Given the description of an element on the screen output the (x, y) to click on. 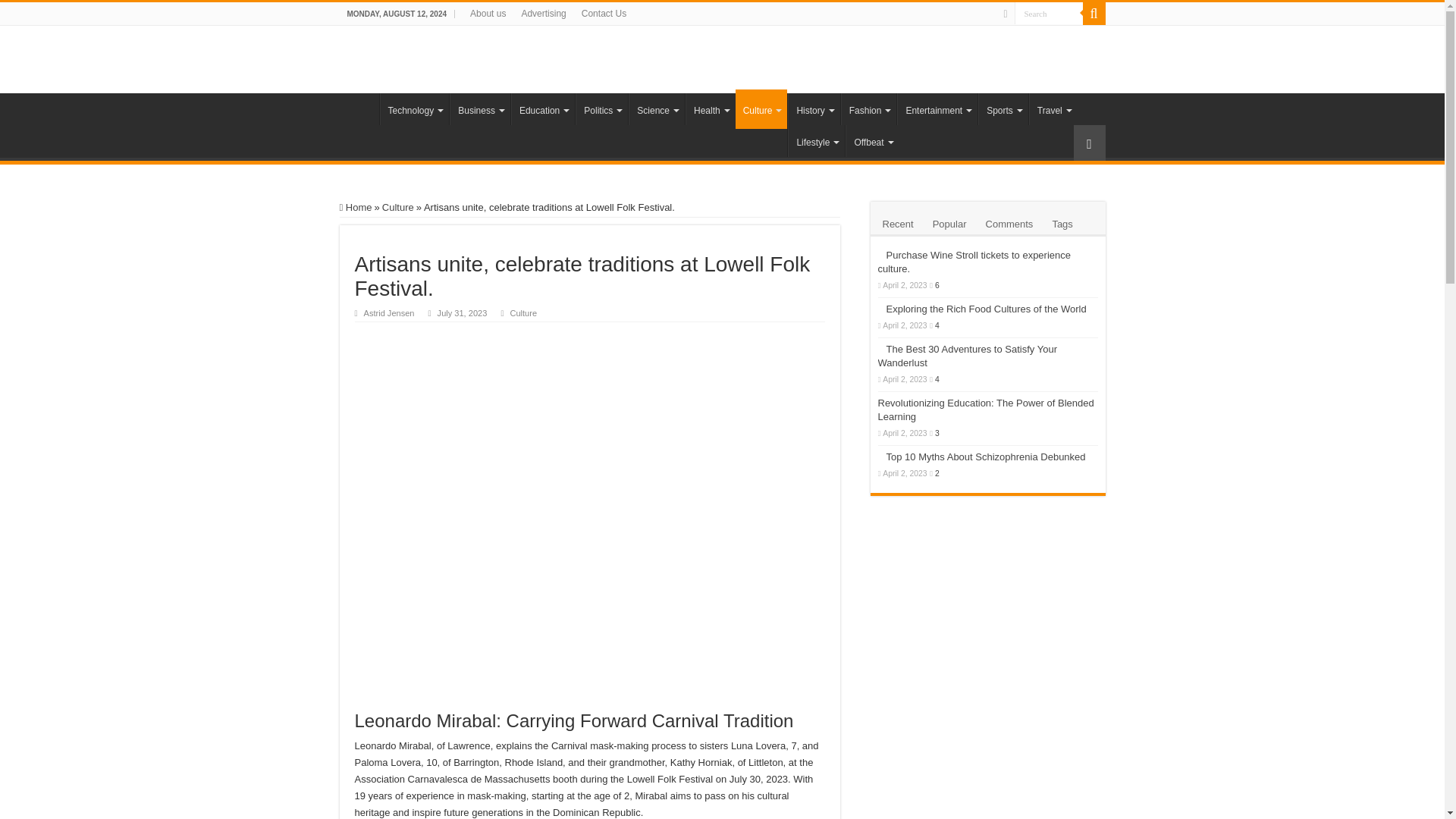
Search (1094, 13)
Search (1048, 13)
Contact Us (603, 13)
About us (488, 13)
Advertising (543, 13)
Home (358, 109)
Technology (413, 109)
Search (1048, 13)
Search (1048, 13)
